Given the description of an element on the screen output the (x, y) to click on. 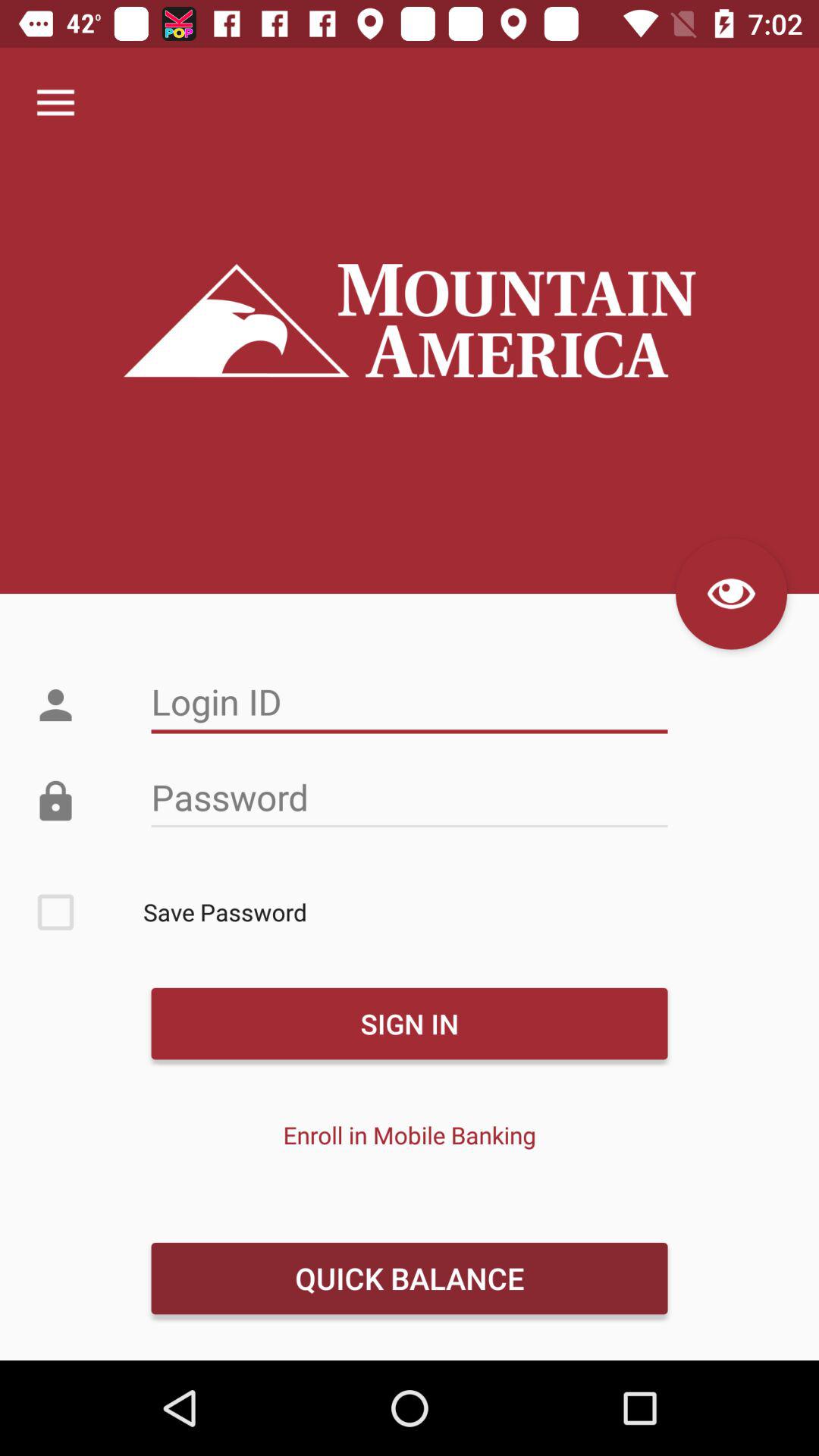
this box was enter the password (409, 797)
